Given the description of an element on the screen output the (x, y) to click on. 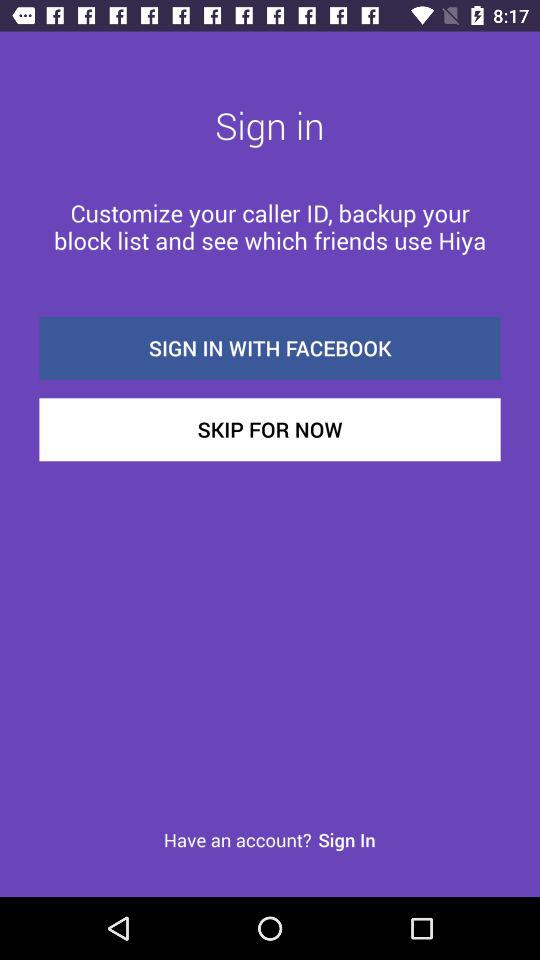
tap the customize your caller (269, 226)
